Given the description of an element on the screen output the (x, y) to click on. 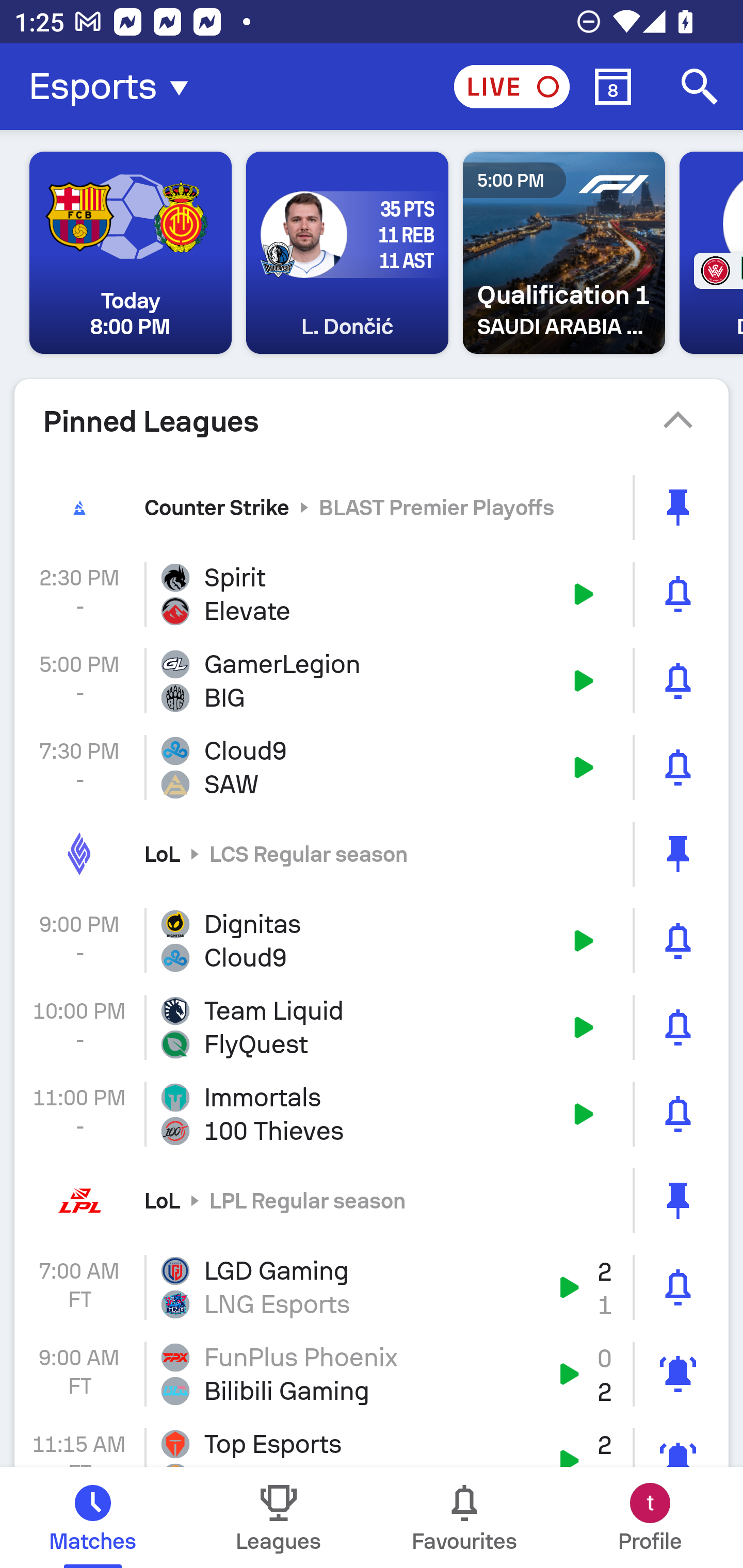
Esports (114, 86)
Calendar (612, 86)
Search (699, 86)
Today
8:00 PM (130, 253)
35 PTS
11 REB
11 AST L. Dončić (346, 253)
Pinned Leagues (371, 421)
Counter Strike BLAST Premier Playoffs (371, 507)
2:30 PM - Spirit Elevate (371, 594)
5:00 PM - GamerLegion BIG (371, 681)
7:30 PM - Cloud9 SAW (371, 767)
LoL LCS Regular season (371, 853)
9:00 PM - Dignitas Cloud9 (371, 940)
10:00 PM - Team Liquid FlyQuest (371, 1027)
11:00 PM - Immortals 100 Thieves (371, 1113)
LoL LPL Regular season (371, 1200)
7:00 AM FT LGD Gaming LNG Esports 2 1 (371, 1287)
9:00 AM FT FunPlus Phoenix Bilibili Gaming 0 2 (371, 1374)
Leagues (278, 1517)
Favourites (464, 1517)
Profile (650, 1517)
